Given the description of an element on the screen output the (x, y) to click on. 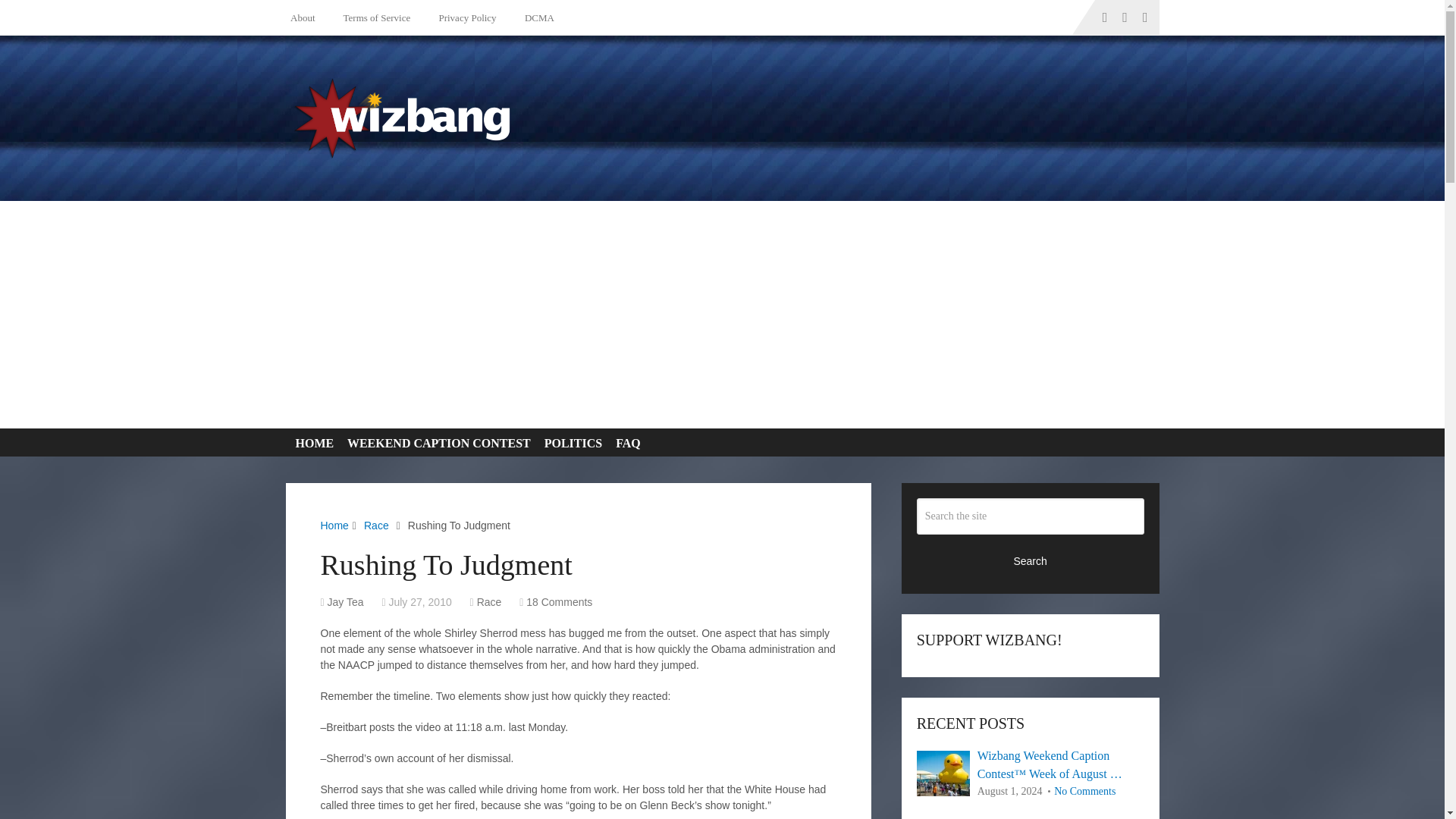
Search (1030, 560)
Race (489, 602)
FAQ (625, 443)
About (305, 17)
18 Comments (558, 602)
HOME (311, 443)
Privacy Policy (464, 17)
View all posts in Race (489, 602)
WEEKEND CAPTION CONTEST (435, 443)
Posts by Jay Tea (345, 602)
